Given the description of an element on the screen output the (x, y) to click on. 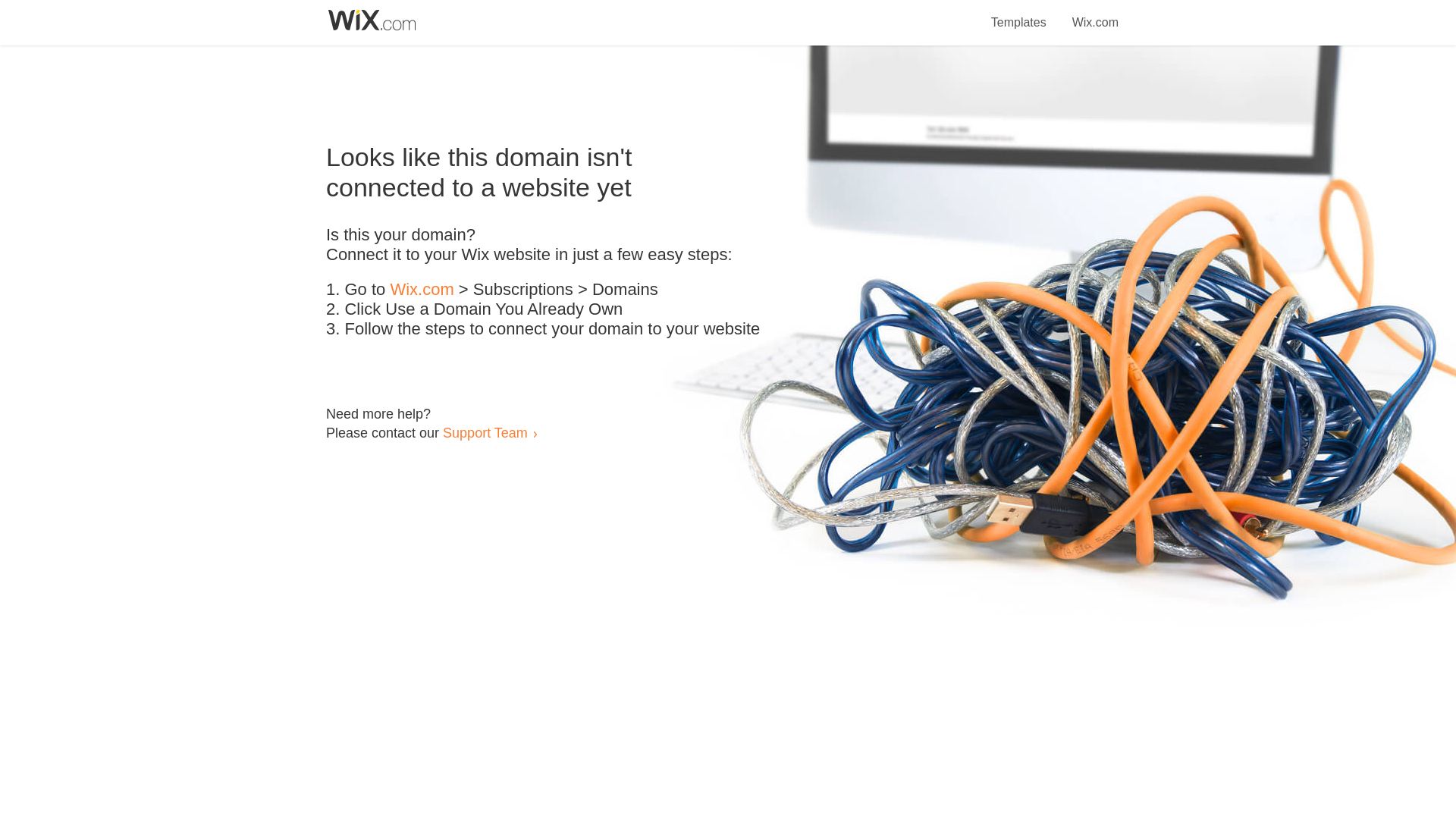
Support Team (484, 432)
Wix.com (1095, 14)
Templates (1018, 14)
Wix.com (421, 289)
